Given the description of an element on the screen output the (x, y) to click on. 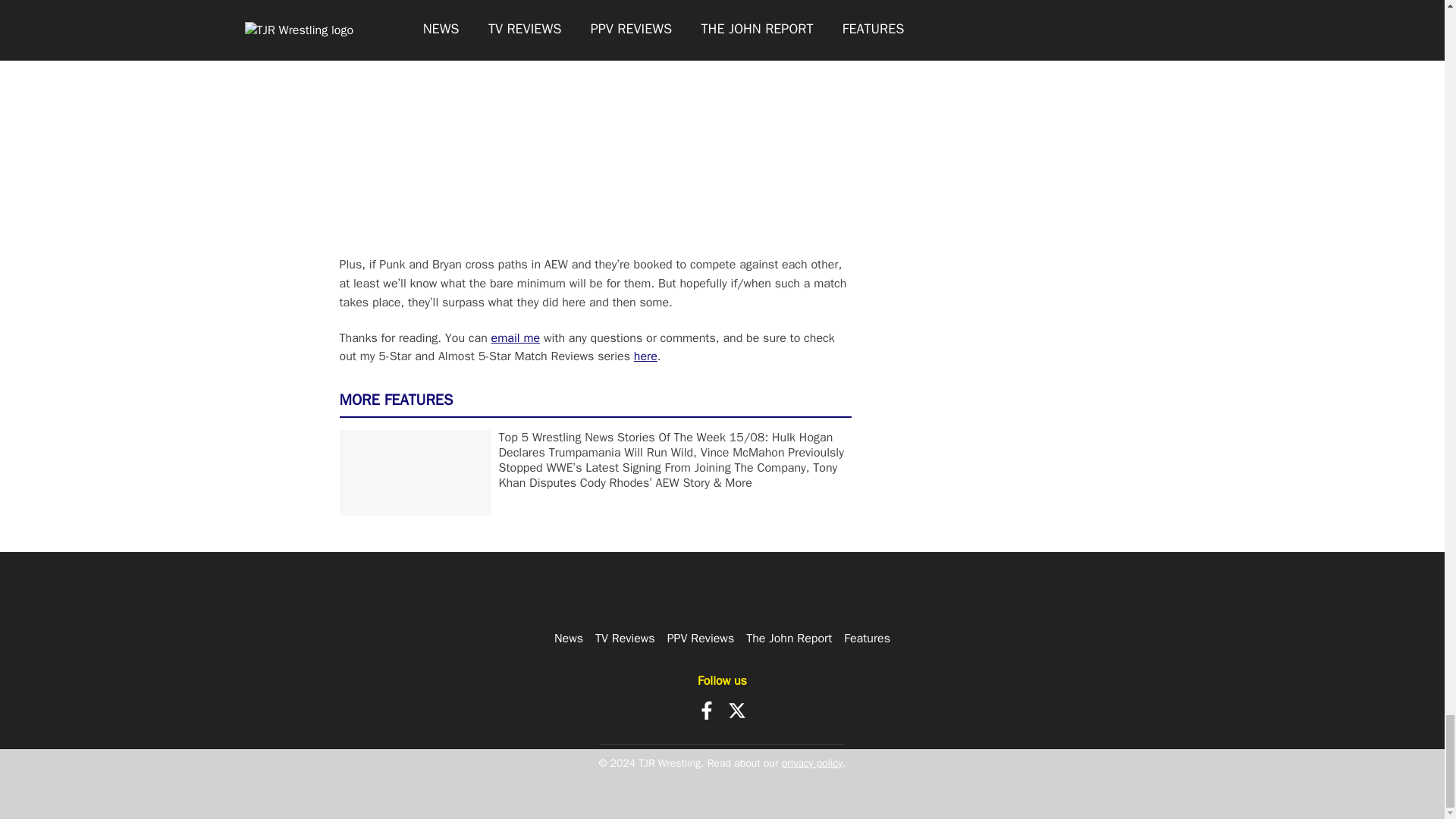
email me (516, 337)
here (645, 355)
Facebook (706, 710)
X (736, 710)
